Given the description of an element on the screen output the (x, y) to click on. 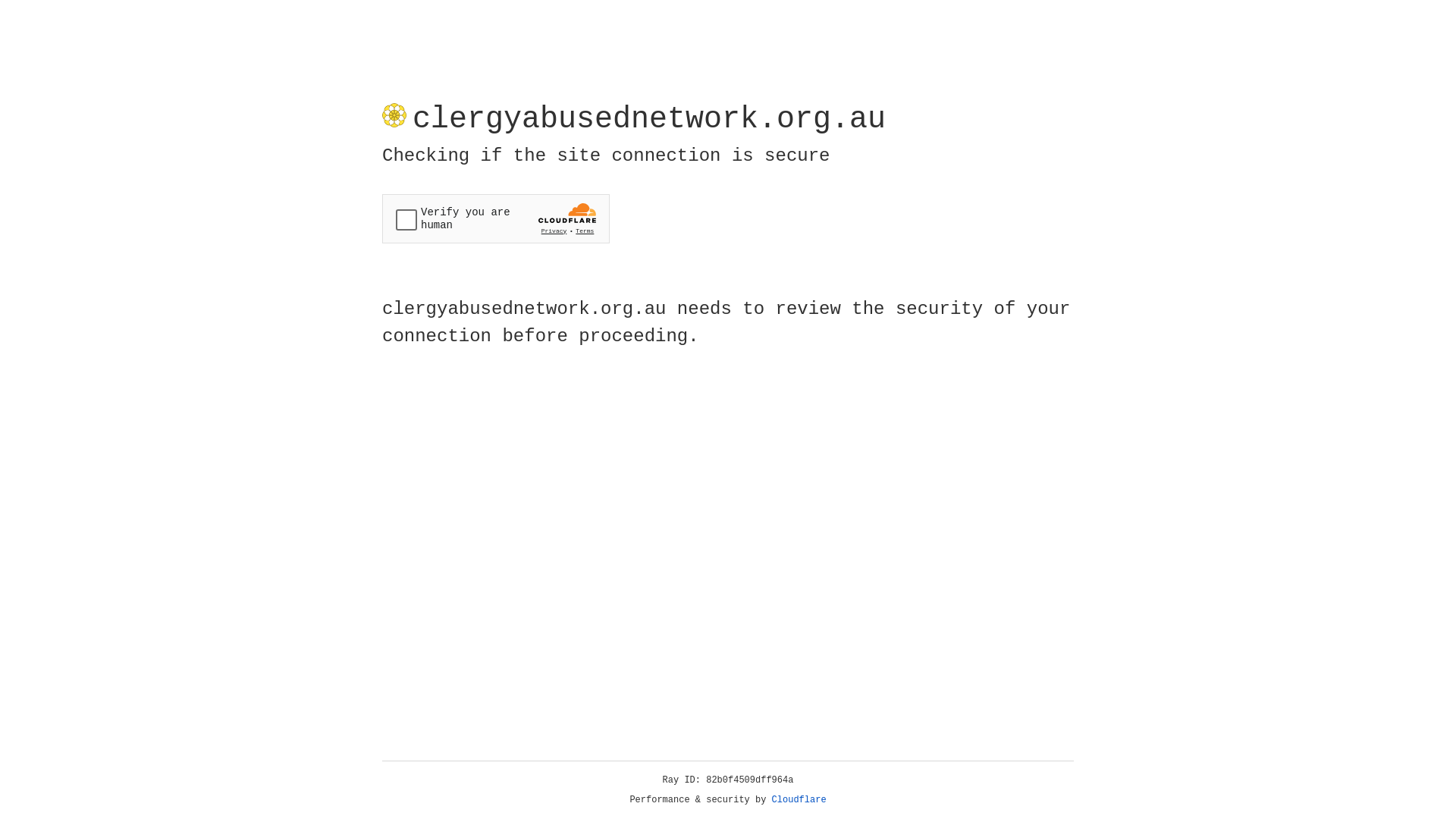
Cloudflare Element type: text (798, 799)
Widget containing a Cloudflare security challenge Element type: hover (495, 218)
